Given the description of an element on the screen output the (x, y) to click on. 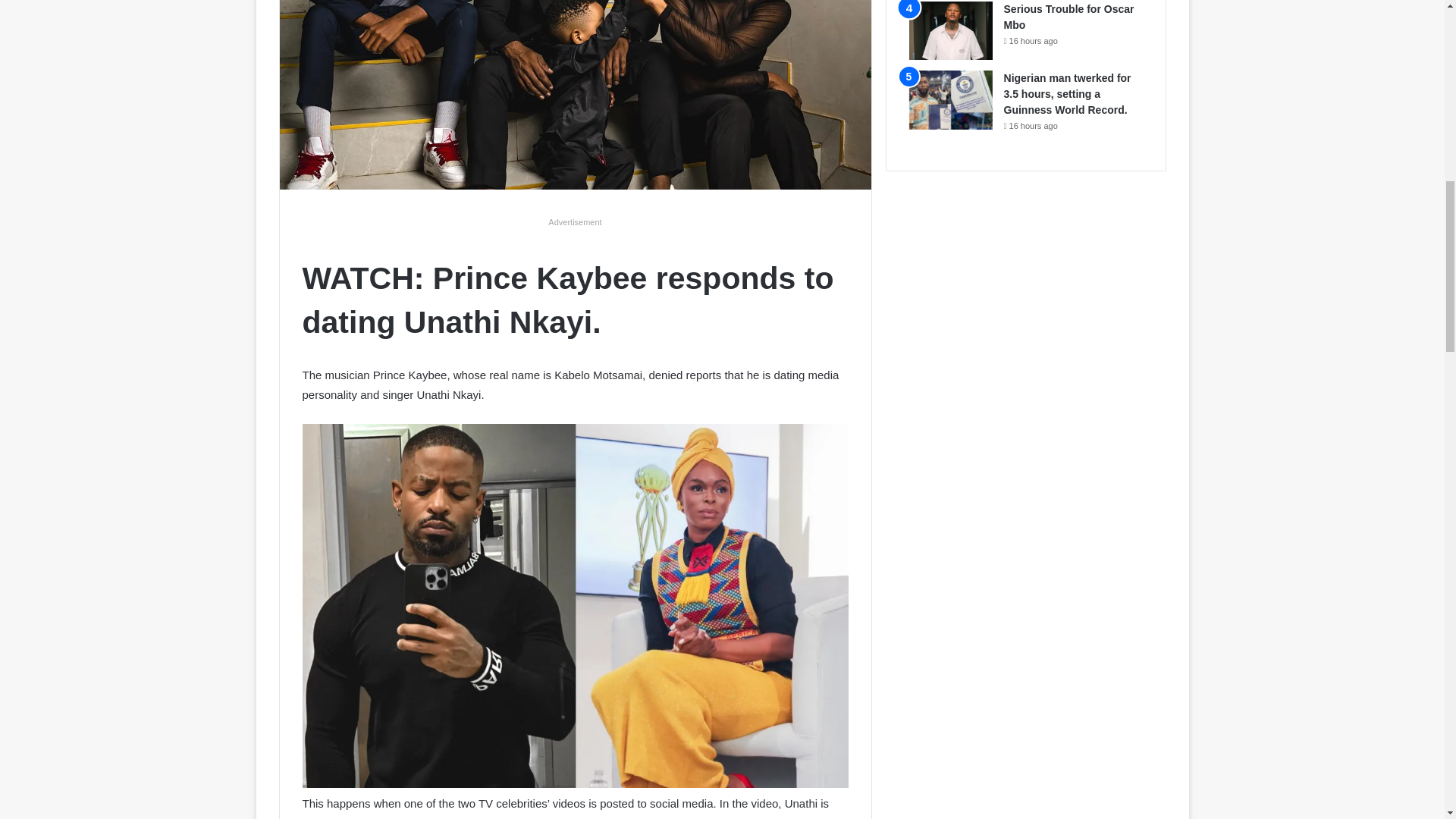
WATCH: Prince Kaybee responds to dating Unathi Nkayi. 1 (574, 95)
